Given the description of an element on the screen output the (x, y) to click on. 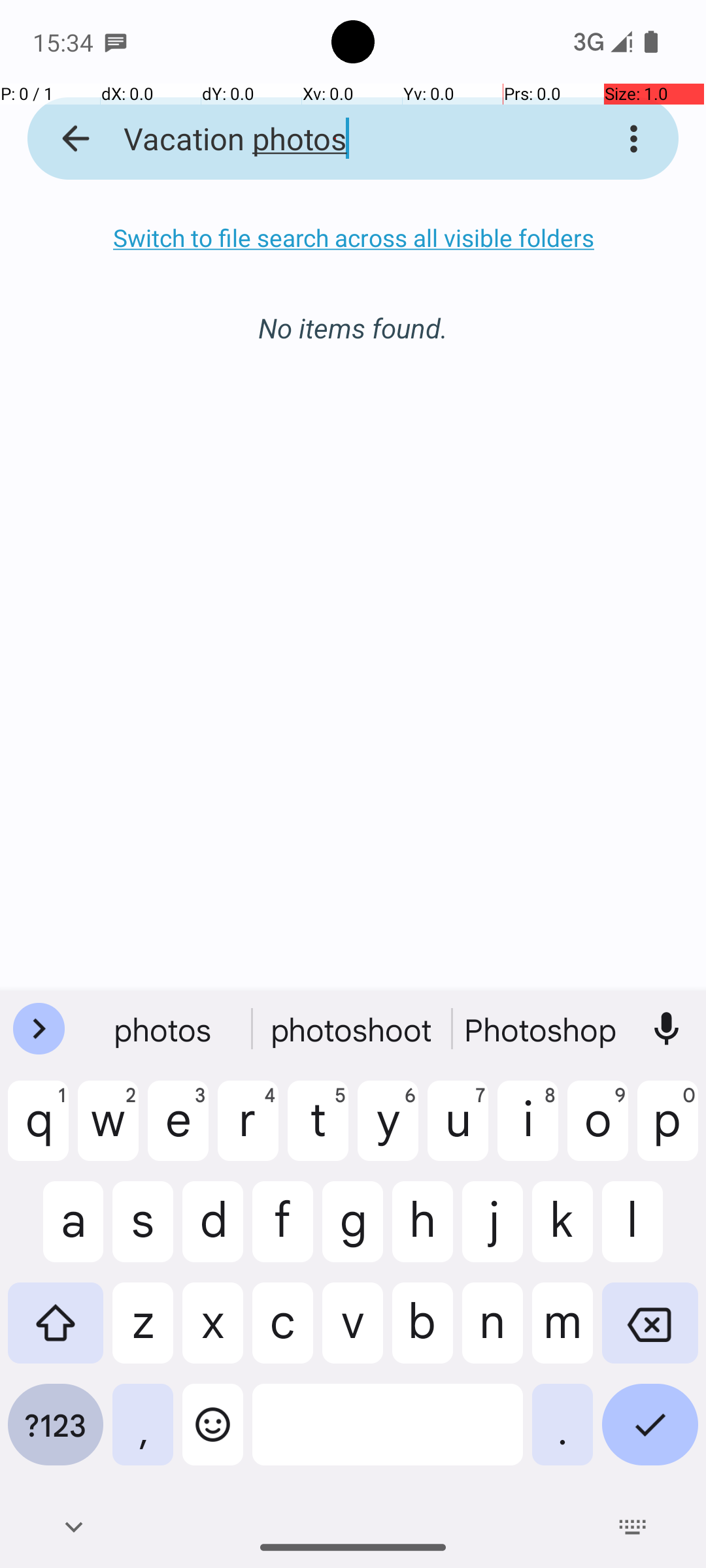
Switch to file search across all visible folders Element type: android.widget.TextView (353, 237)
No items found. Element type: android.widget.TextView (353, 313)
Vacation photos Element type: android.widget.EditText (335, 138)
Switch input method Element type: android.widget.ImageView (632, 1526)
Open features menu Element type: android.widget.FrameLayout (39, 1028)
photos Element type: android.widget.FrameLayout (163, 1028)
photography Element type: android.widget.FrameLayout (541, 1028)
Voice input Element type: android.widget.FrameLayout (666, 1028)
q Element type: android.widget.FrameLayout (38, 1130)
w Element type: android.widget.FrameLayout (108, 1130)
e Element type: android.widget.FrameLayout (178, 1130)
r Element type: android.widget.FrameLayout (248, 1130)
t Element type: android.widget.FrameLayout (318, 1130)
y Element type: android.widget.FrameLayout (387, 1130)
u Element type: android.widget.FrameLayout (457, 1130)
i Element type: android.widget.FrameLayout (527, 1130)
o Element type: android.widget.FrameLayout (597, 1130)
p Element type: android.widget.FrameLayout (667, 1130)
a Element type: android.widget.FrameLayout (55, 1231)
s Element type: android.widget.FrameLayout (142, 1231)
d Element type: android.widget.FrameLayout (212, 1231)
f Element type: android.widget.FrameLayout (282, 1231)
g Element type: android.widget.FrameLayout (352, 1231)
h Element type: android.widget.FrameLayout (422, 1231)
j Element type: android.widget.FrameLayout (492, 1231)
k Element type: android.widget.FrameLayout (562, 1231)
l Element type: android.widget.FrameLayout (649, 1231)
Shift Element type: android.widget.FrameLayout (55, 1332)
z Element type: android.widget.FrameLayout (142, 1332)
x Element type: android.widget.FrameLayout (212, 1332)
c Element type: android.widget.FrameLayout (282, 1332)
v Element type: android.widget.FrameLayout (352, 1332)
b Element type: android.widget.FrameLayout (422, 1332)
n Element type: android.widget.FrameLayout (492, 1332)
m Element type: android.widget.FrameLayout (562, 1332)
Symbol keyboard Element type: android.widget.FrameLayout (55, 1434)
, Element type: android.widget.FrameLayout (142, 1434)
Emoji button Element type: android.widget.FrameLayout (212, 1434)
Space Element type: android.widget.FrameLayout (387, 1434)
. Element type: android.widget.FrameLayout (562, 1434)
Done Element type: android.widget.FrameLayout (649, 1434)
